Given the description of an element on the screen output the (x, y) to click on. 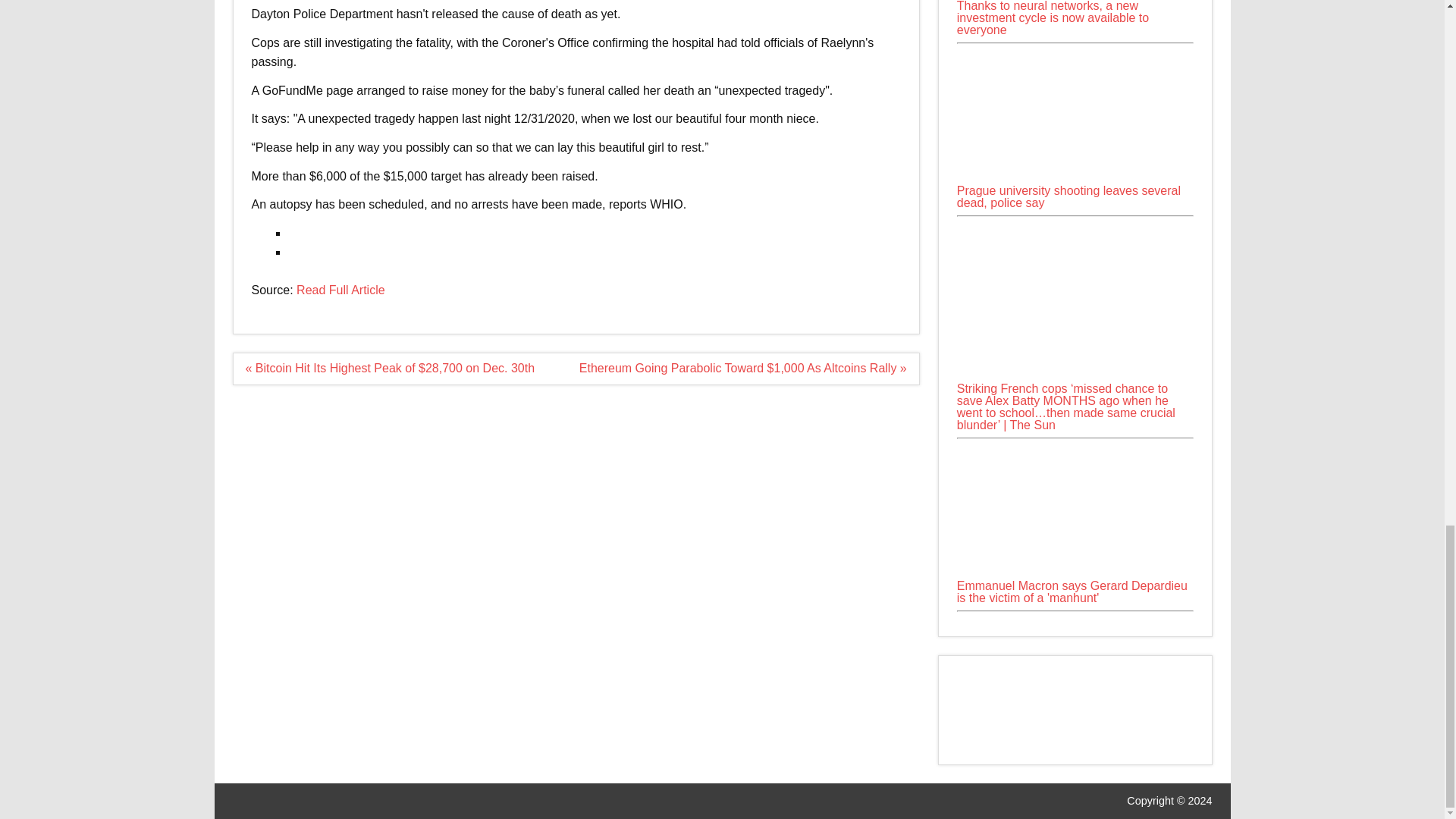
Prague university shooting leaves several dead, police say (1068, 196)
Prague university shooting leaves several dead, police say (1074, 178)
Read Full Article (341, 289)
Prague university shooting leaves several dead, police say (1074, 115)
